Given the description of an element on the screen output the (x, y) to click on. 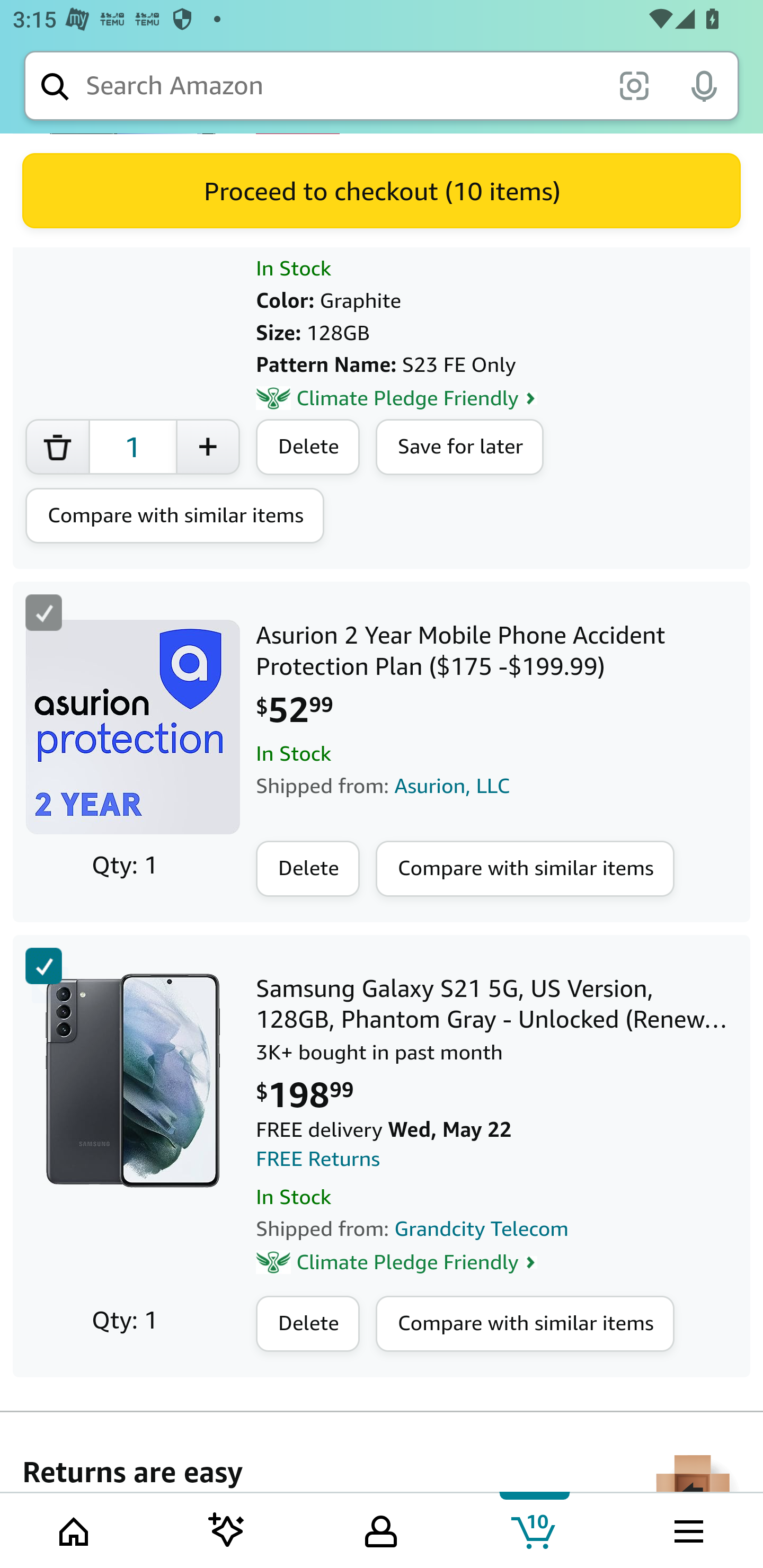
scan it (633, 85)
Proceed to checkout (10 items) (381, 191)
Delete (308, 448)
Save for later (459, 448)
1 (132, 448)
Compare with similar items (174, 517)
Asurion, LLC (452, 786)
Delete (308, 870)
Compare with similar items (524, 870)
FREE Returns (318, 1161)
Grandcity Telecom (481, 1229)
Delete (308, 1324)
Compare with similar items (524, 1324)
Home Tab 1 of 5 (75, 1529)
Inspire feed Tab 2 of 5 (227, 1529)
Your Amazon.com Tab 3 of 5 (380, 1529)
Cart 10 items Tab 4 of 5 10 (534, 1529)
Browse menu Tab 5 of 5 (687, 1529)
